Given the description of an element on the screen output the (x, y) to click on. 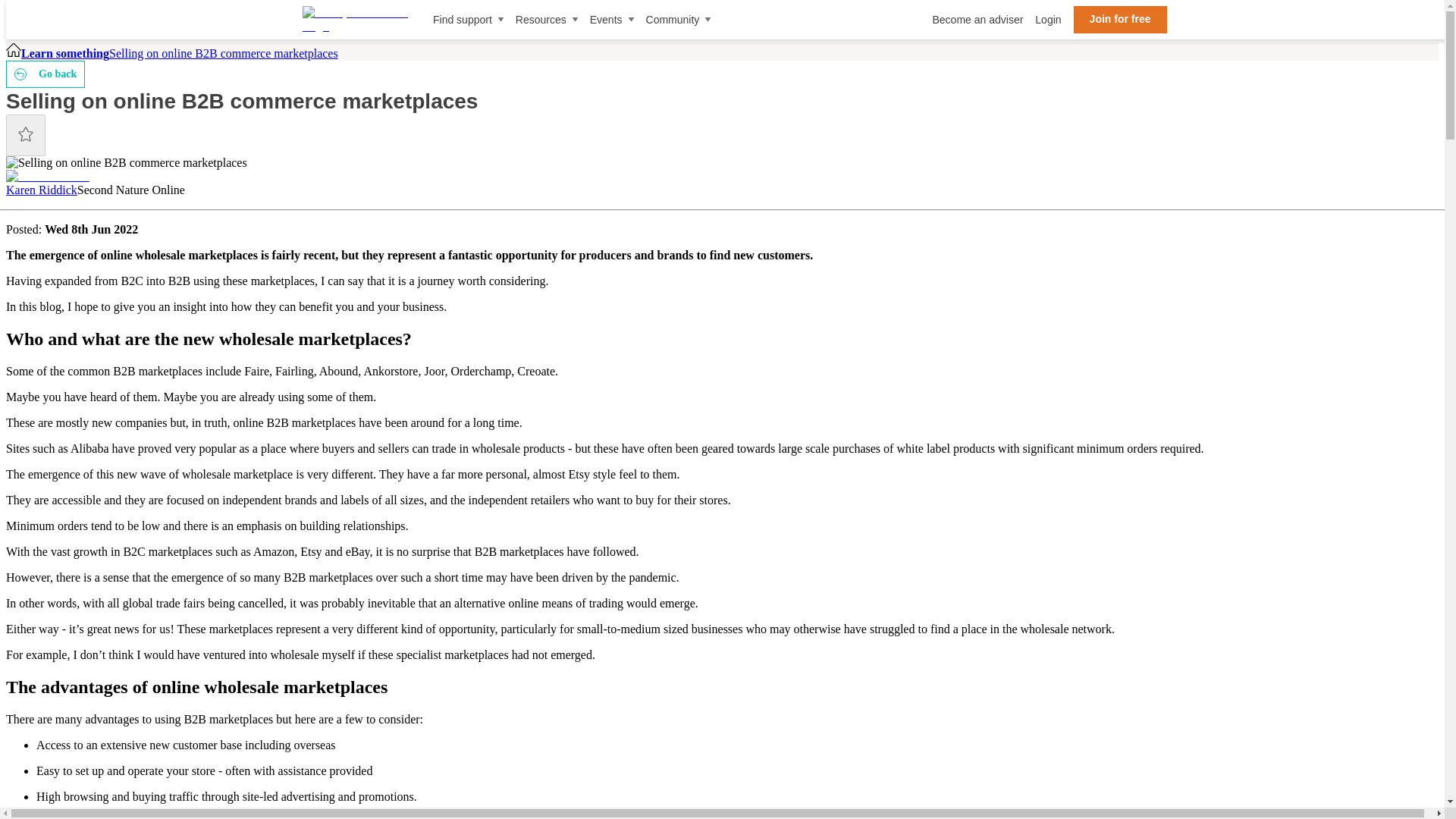
Login (1048, 19)
Selling on online B2B commerce marketplaces (223, 52)
Karen Riddick (41, 189)
Selling on online B2B commerce marketplaces (223, 52)
Karen Riddick (46, 176)
Go back (44, 73)
Events (611, 19)
Learn something (65, 52)
Community (678, 19)
Learn something (65, 52)
